Given the description of an element on the screen output the (x, y) to click on. 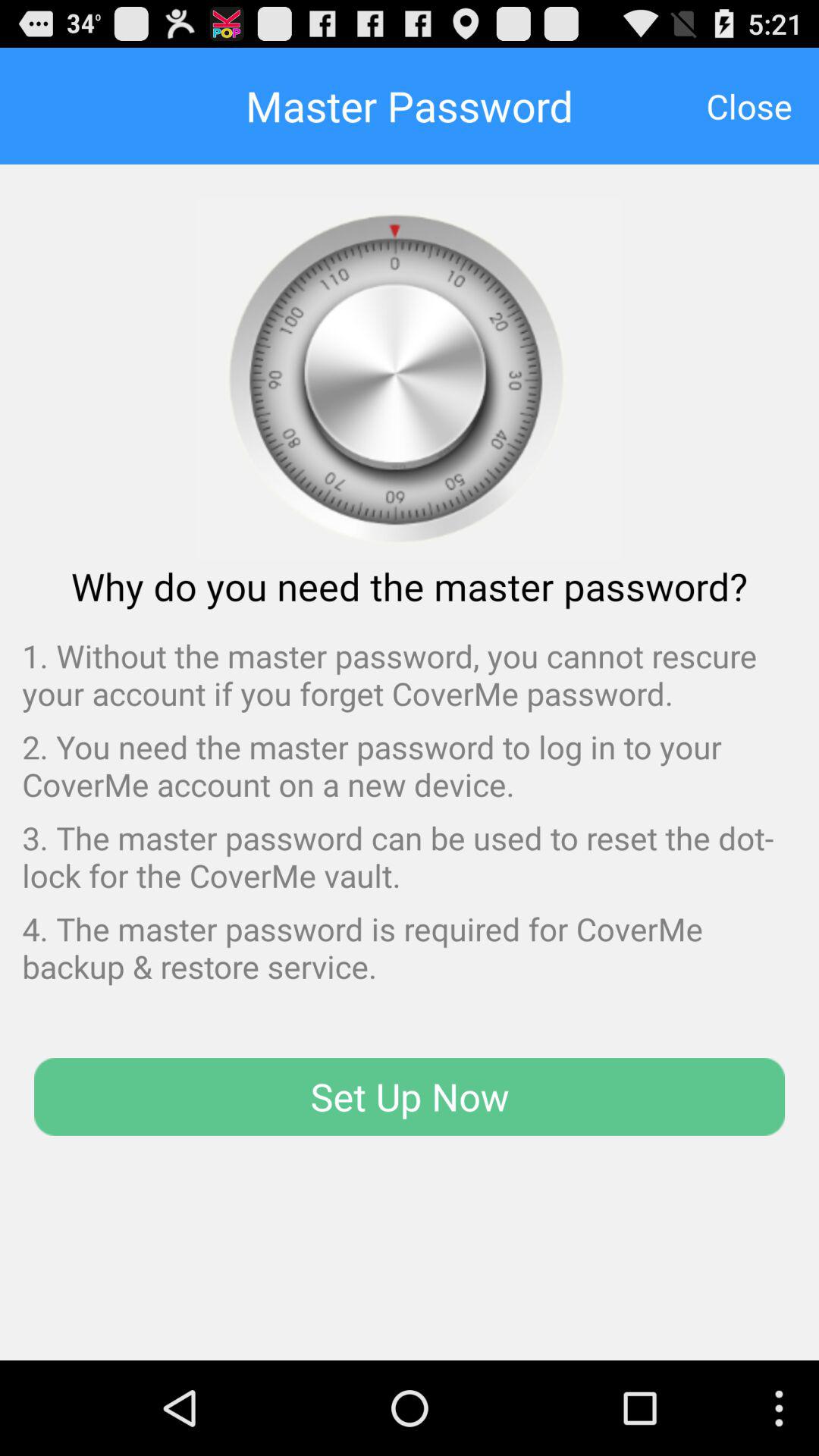
choose the icon next to master password item (749, 106)
